Given the description of an element on the screen output the (x, y) to click on. 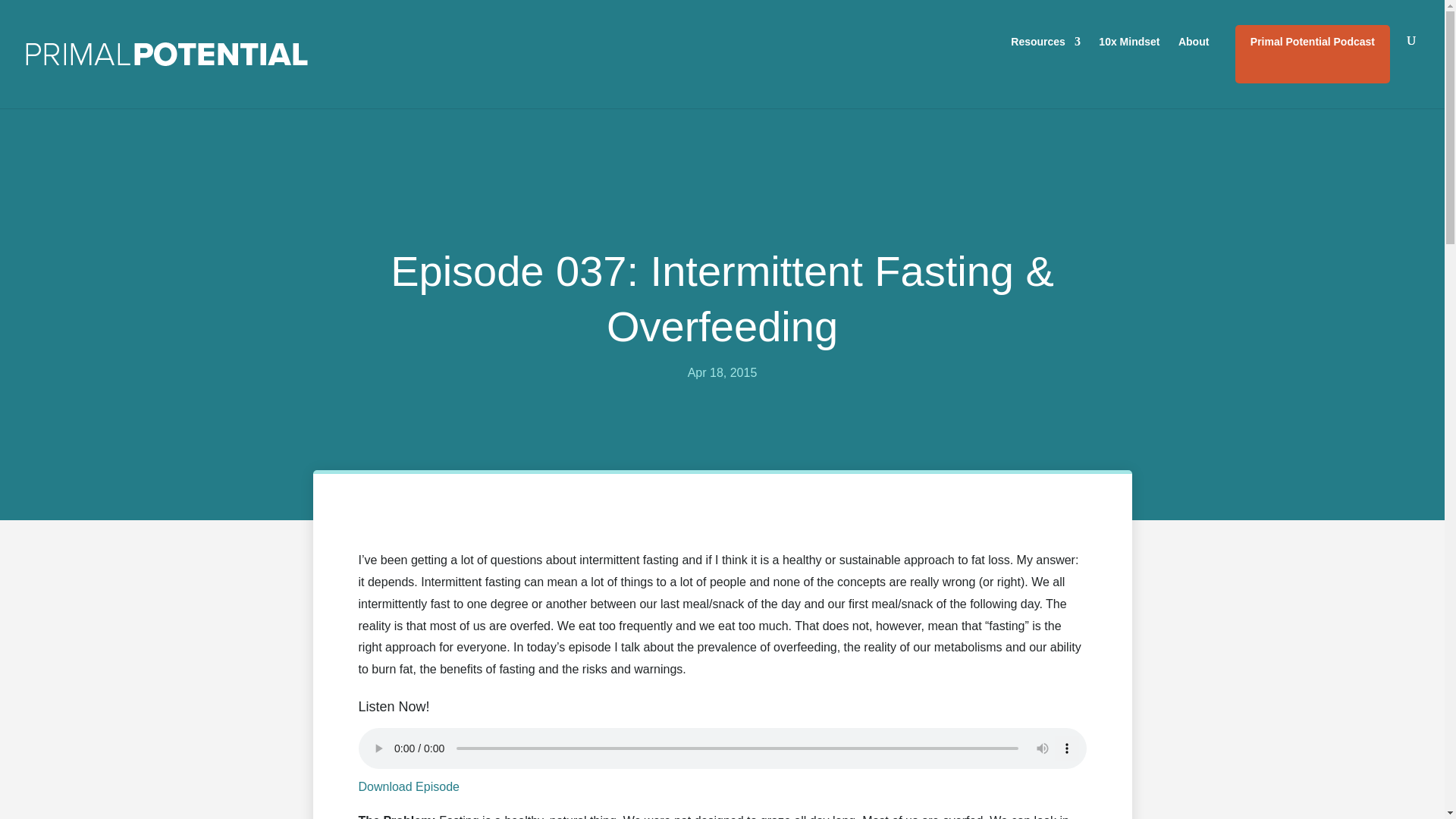
Download Episode (408, 786)
10x Mindset (1128, 54)
Resources (1045, 54)
Primal Potential Podcast (1312, 54)
